Given the description of an element on the screen output the (x, y) to click on. 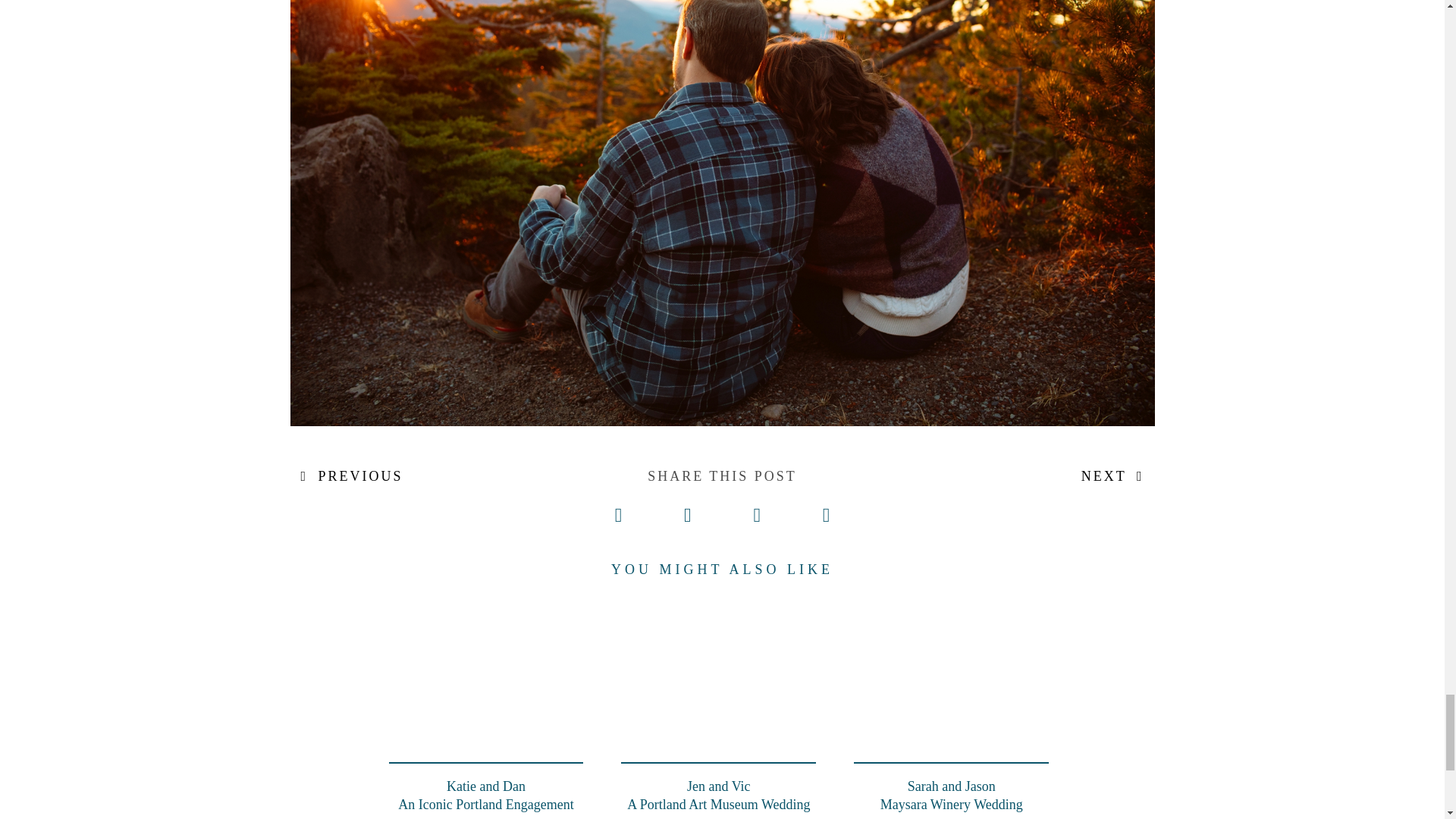
NEXT (950, 704)
PREVIOUS (718, 704)
